Given the description of an element on the screen output the (x, y) to click on. 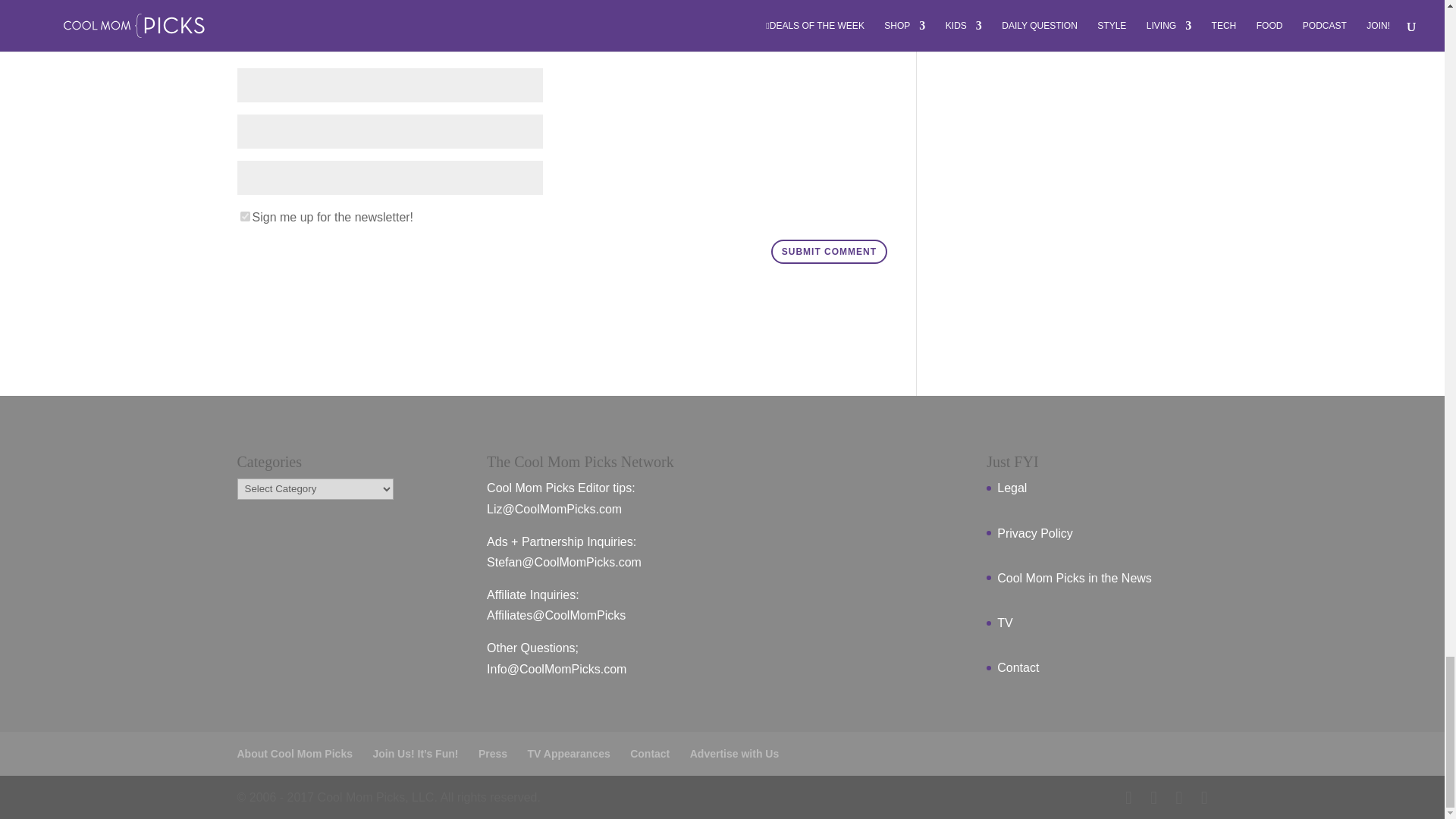
1 (244, 216)
Submit Comment (828, 251)
